Given the description of an element on the screen output the (x, y) to click on. 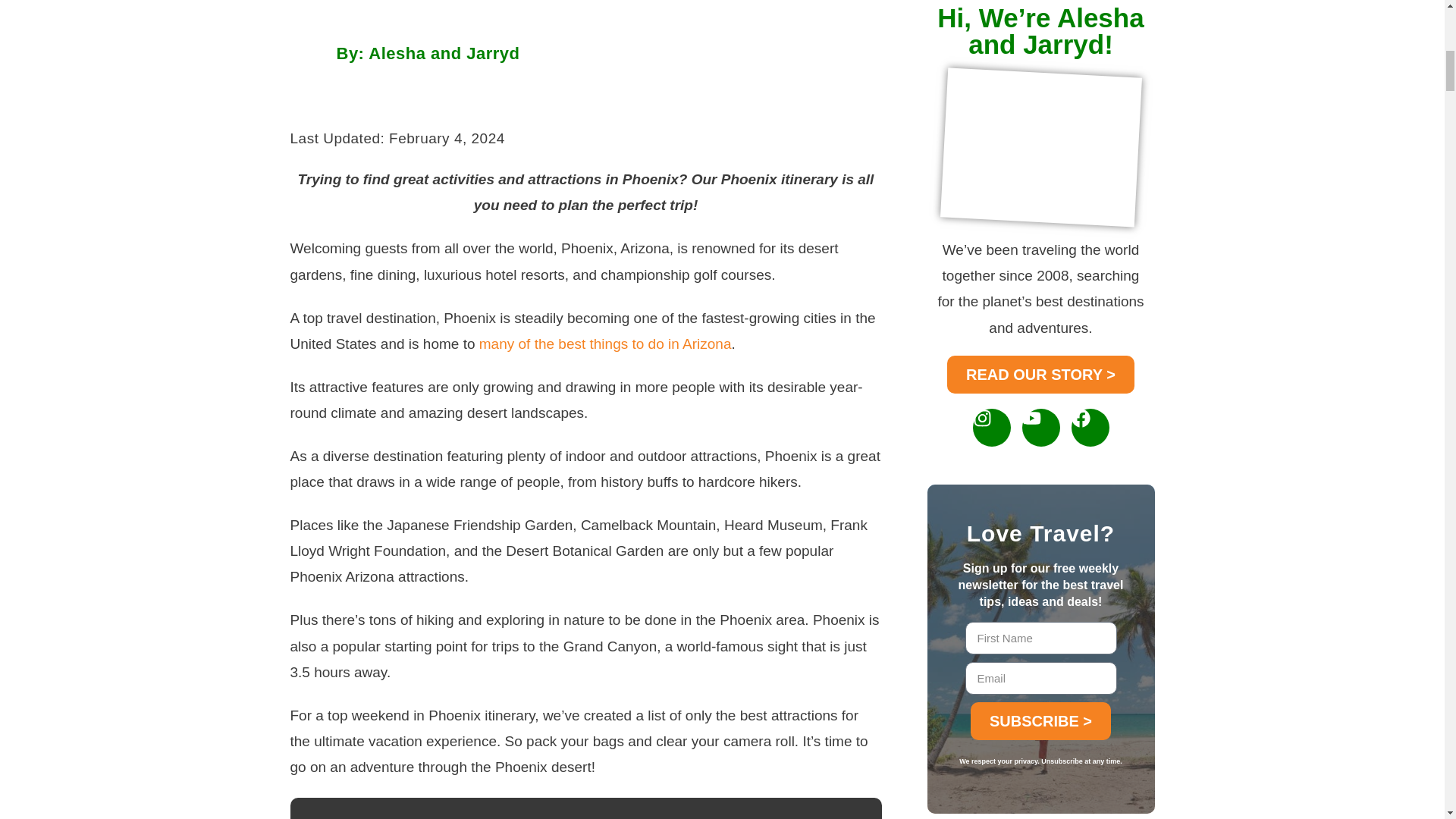
Scroll back to top (1406, 720)
